Given the description of an element on the screen output the (x, y) to click on. 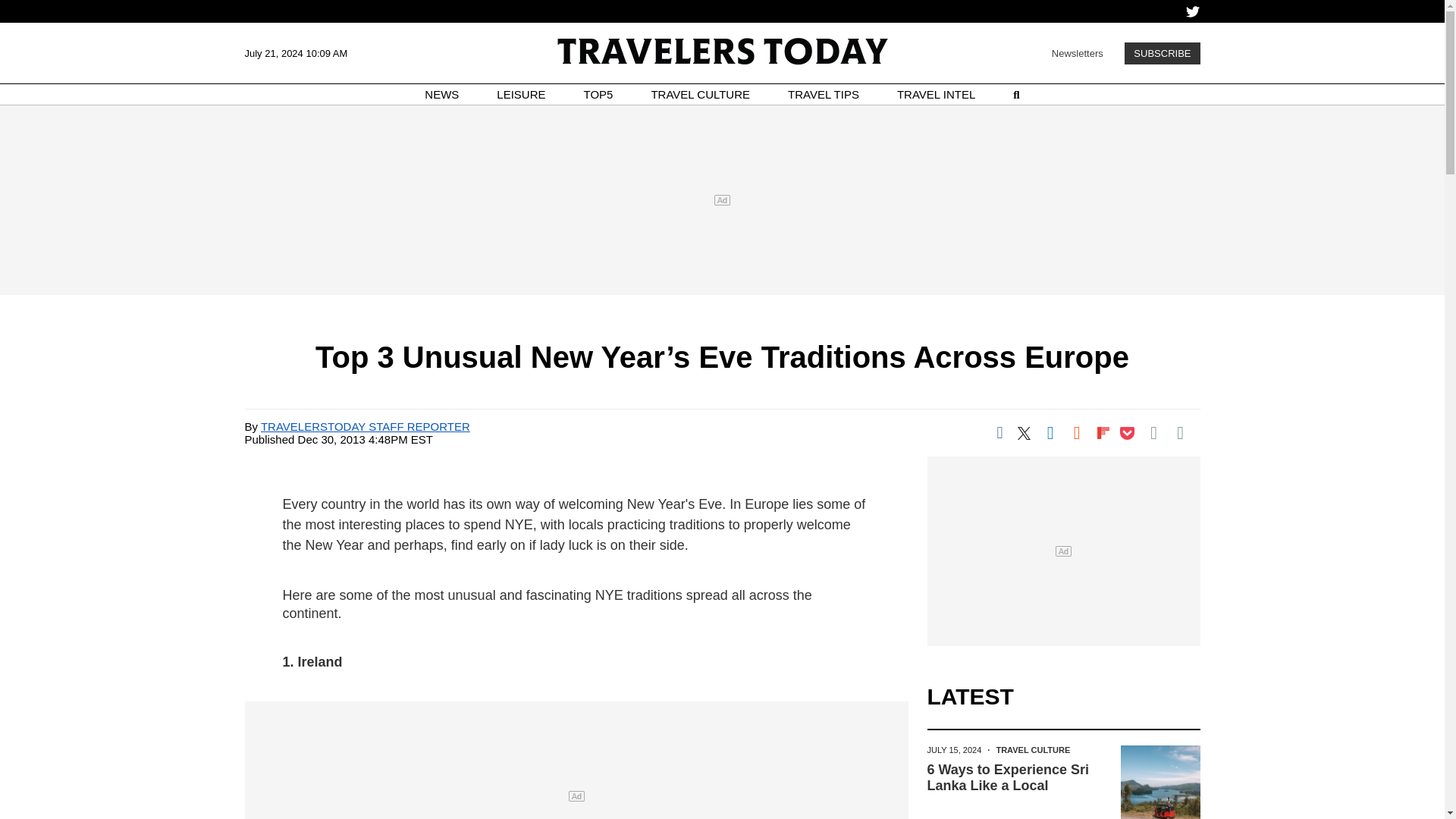
Newsletters (1077, 52)
TRAVELERSTODAY STAFF REPORTER (365, 426)
3rd party ad content (1062, 551)
Share on Facebook (999, 432)
TRAVEL INTEL (935, 93)
Share on Flipboard (1102, 432)
Share on Twitter (1023, 432)
TOP5 (597, 93)
NEWS (441, 93)
Share on Reddit (1076, 432)
TRAVEL CULTURE (1032, 749)
3rd party ad content (721, 200)
LEISURE (520, 93)
TRAVEL CULTURE (699, 93)
TRAVEL TIPS (823, 93)
